Given the description of an element on the screen output the (x, y) to click on. 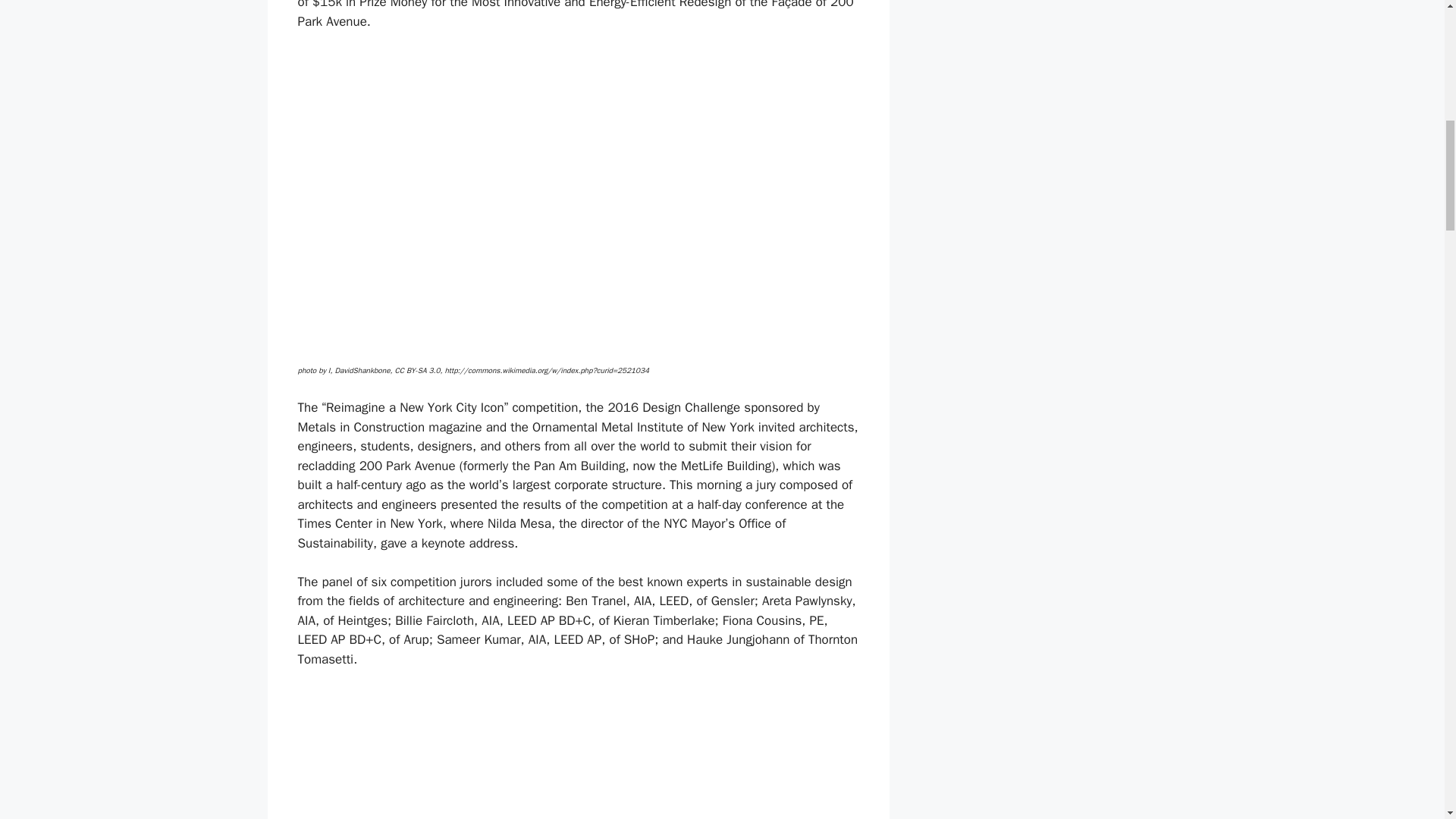
Scroll back to top (1406, 720)
